Given the description of an element on the screen output the (x, y) to click on. 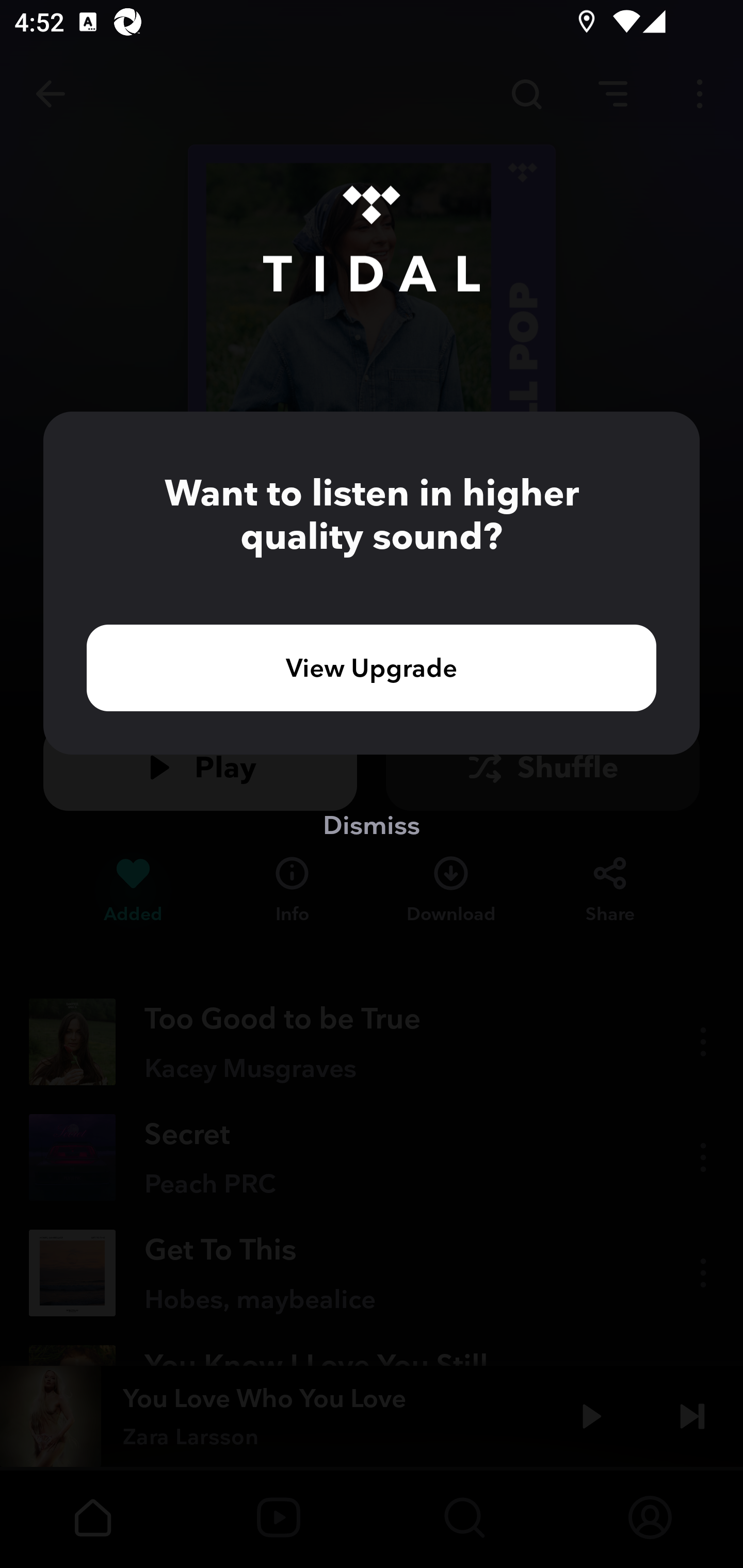
View Upgrade (371, 667)
Dismiss (371, 824)
